Given the description of an element on the screen output the (x, y) to click on. 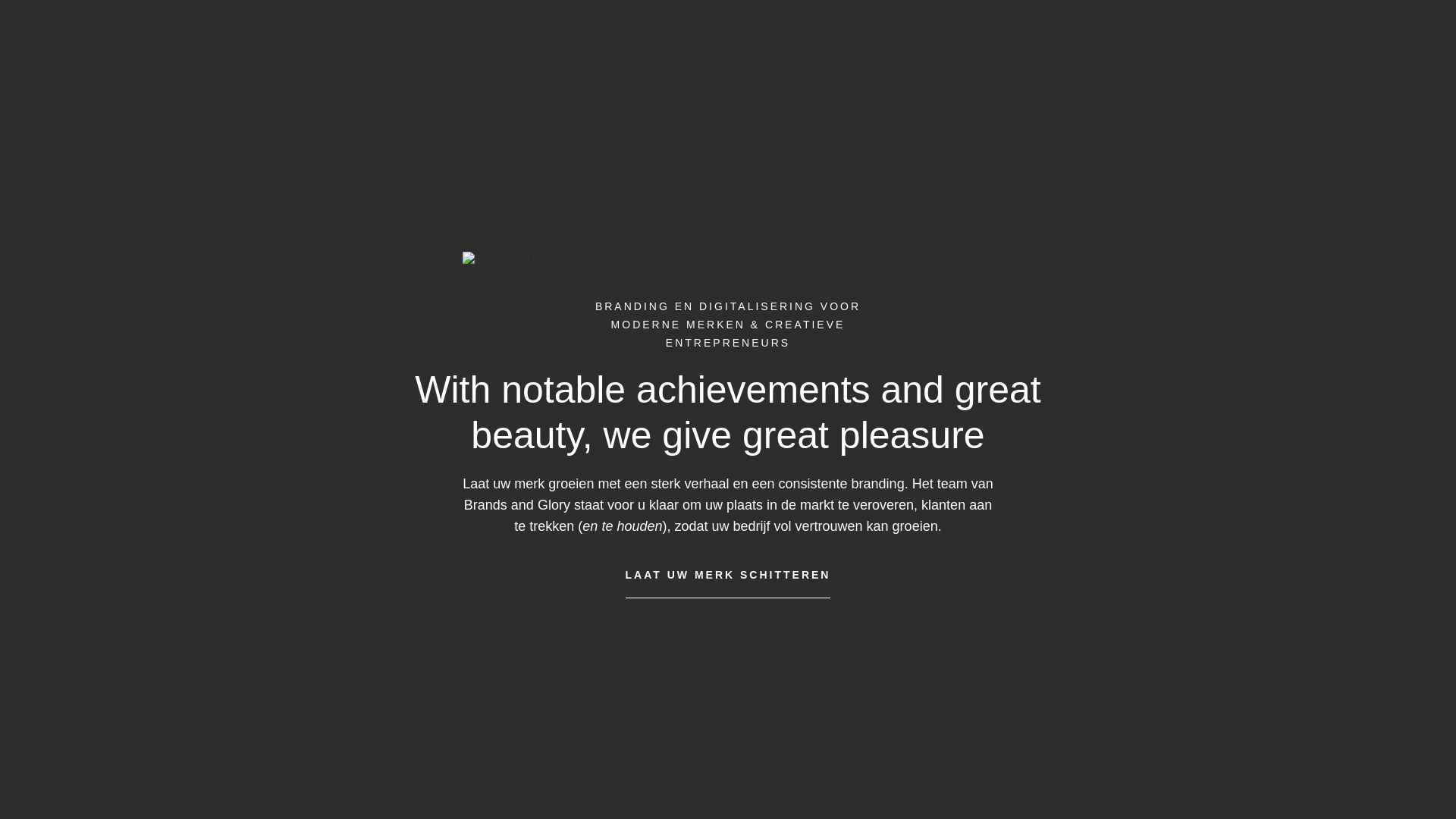
LAAT UW MERK SCHITTEREN Element type: text (728, 575)
